Given the description of an element on the screen output the (x, y) to click on. 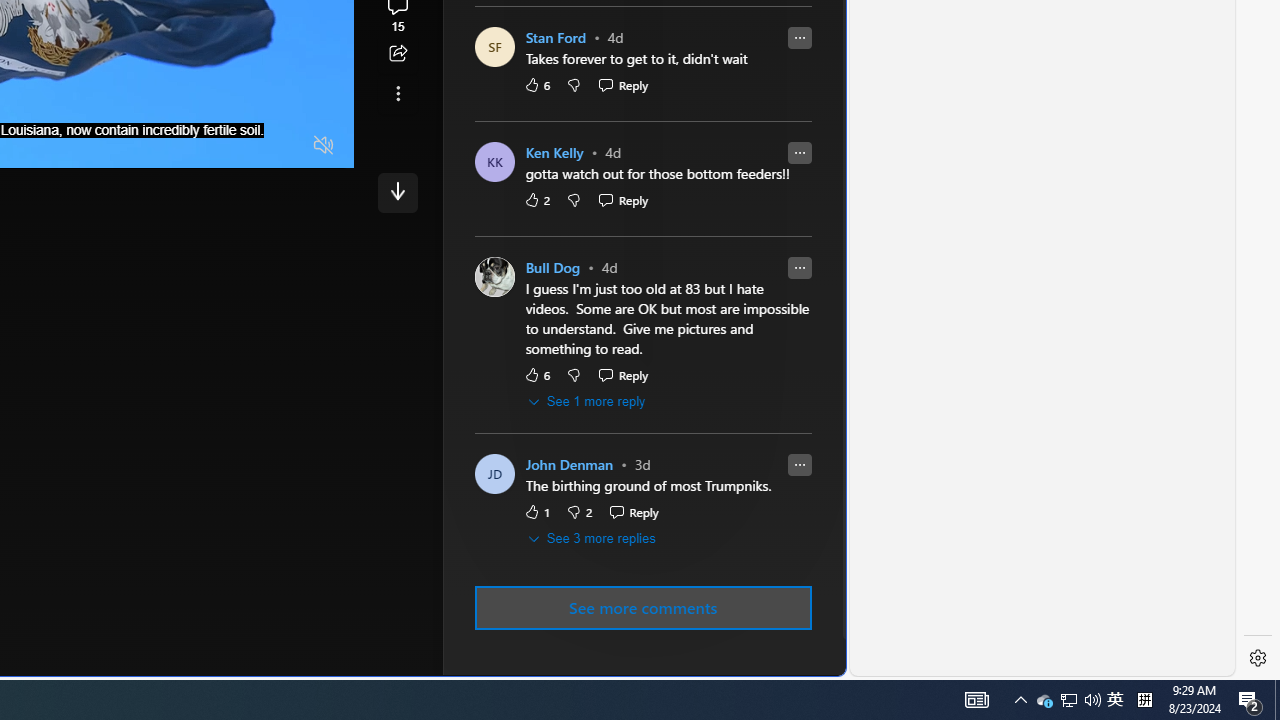
Captions (246, 146)
2 Like (536, 200)
Class: at-item detail-page (397, 93)
Unmute (324, 146)
Bull Dog (552, 268)
See more comments (642, 607)
Share this story (397, 53)
